Given the description of an element on the screen output the (x, y) to click on. 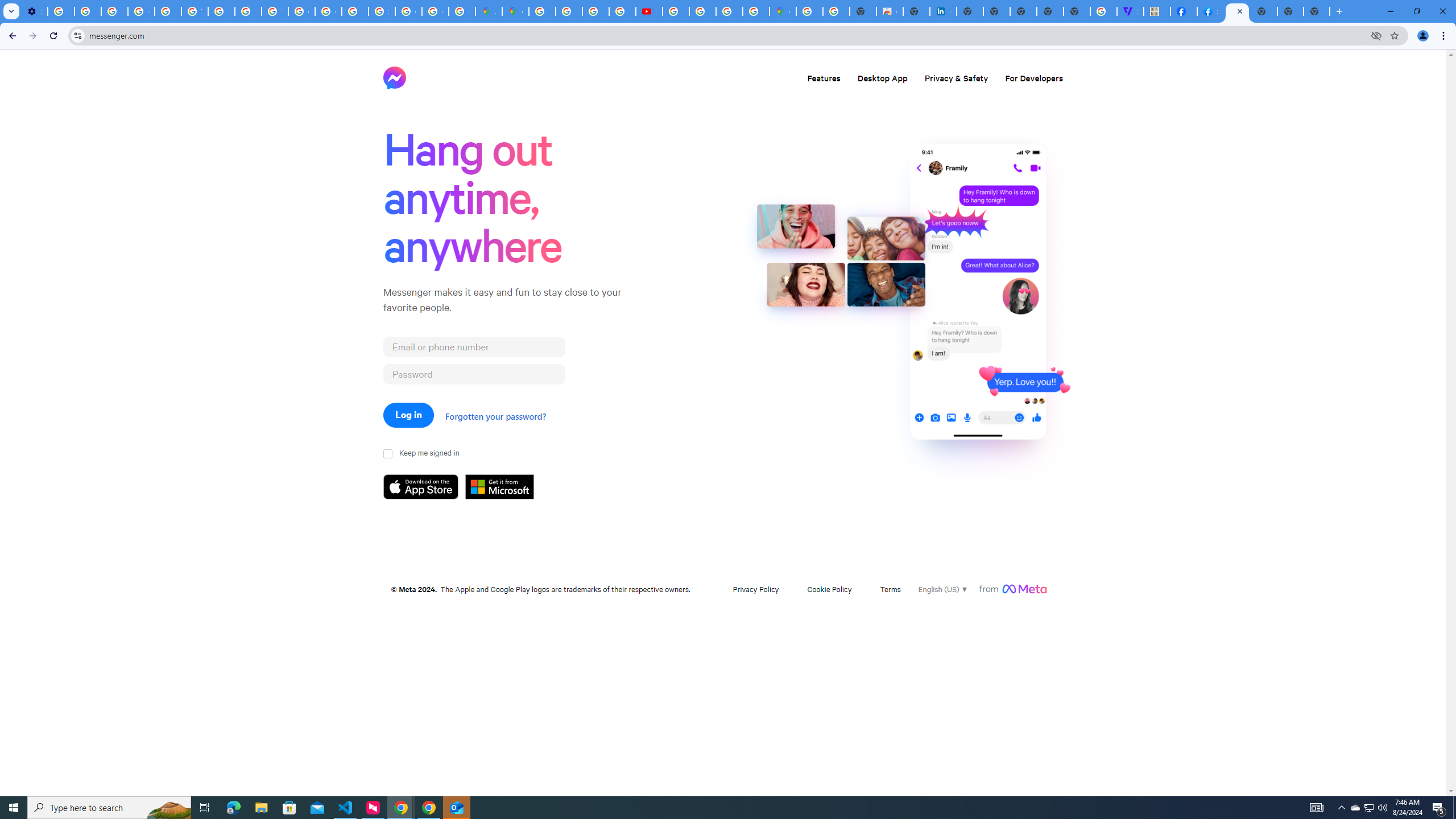
Sign in - Google Accounts (382, 11)
Privacy & Safety (956, 77)
Keep me signed in (389, 454)
New Tab (1316, 11)
Streaming - The Verge (1130, 11)
From Meta Logo (1012, 588)
Get it from Microsoft (506, 487)
Terms (890, 588)
